Given the description of an element on the screen output the (x, y) to click on. 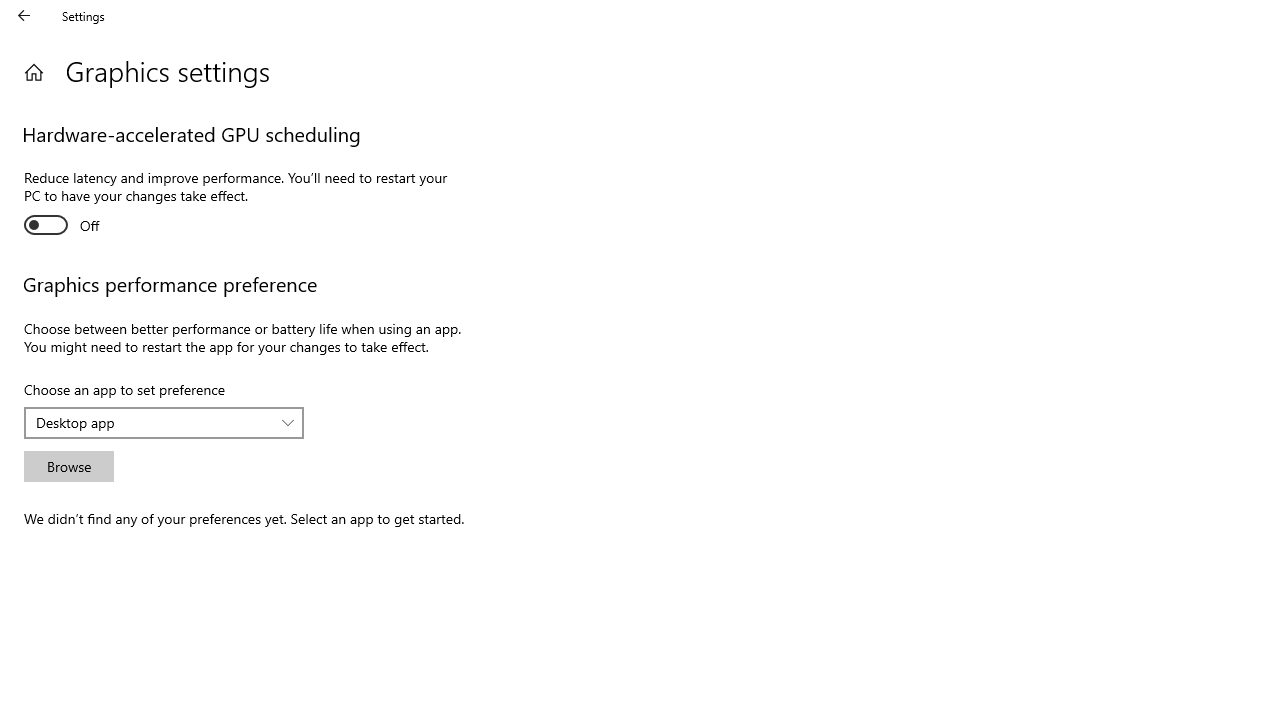
Home (33, 71)
Back (24, 15)
Desktop app (153, 422)
Choose an app to set preference (164, 422)
Browse (68, 465)
